Given the description of an element on the screen output the (x, y) to click on. 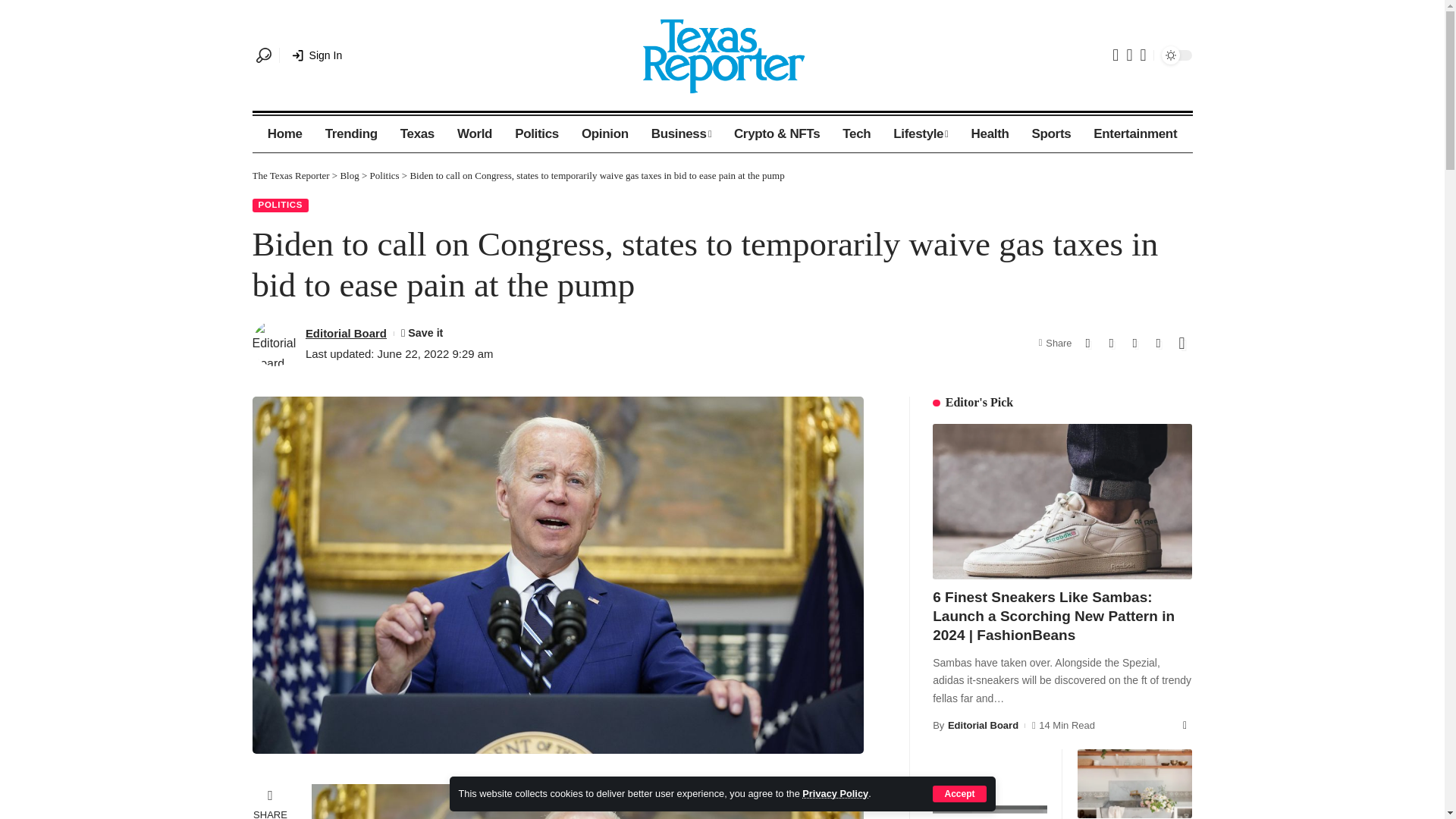
Health (989, 134)
Tech (856, 134)
Business (681, 134)
Privacy Policy (834, 793)
Lifestyle (920, 134)
Sports (1051, 134)
World (474, 134)
Accept (959, 793)
Home (285, 134)
Go to The Texas Reporter. (290, 174)
